Given the description of an element on the screen output the (x, y) to click on. 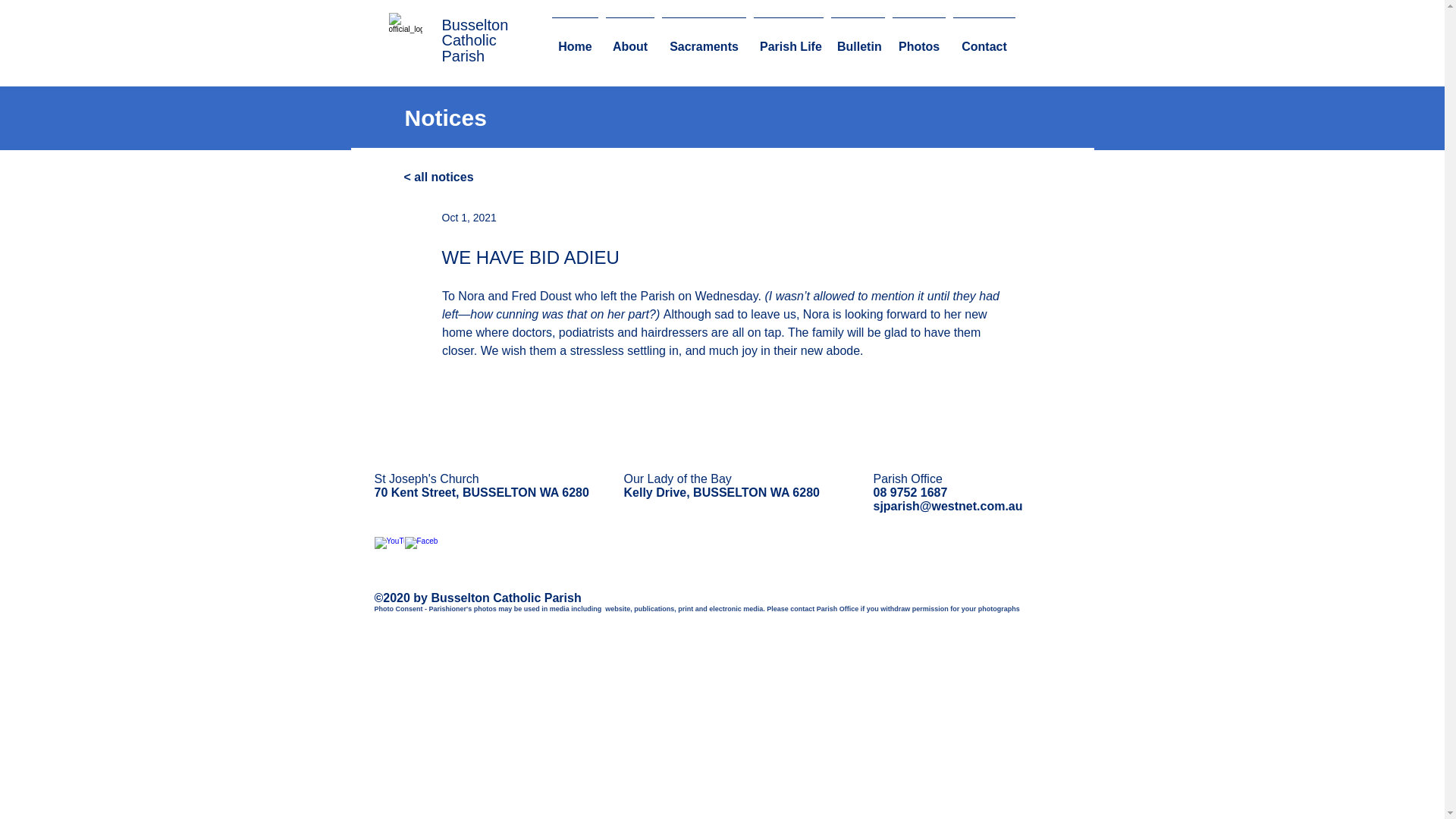
Home (575, 40)
Busselton (474, 24)
Bulletin (857, 40)
Oct 1, 2021 (468, 217)
Contact (984, 40)
